Given the description of an element on the screen output the (x, y) to click on. 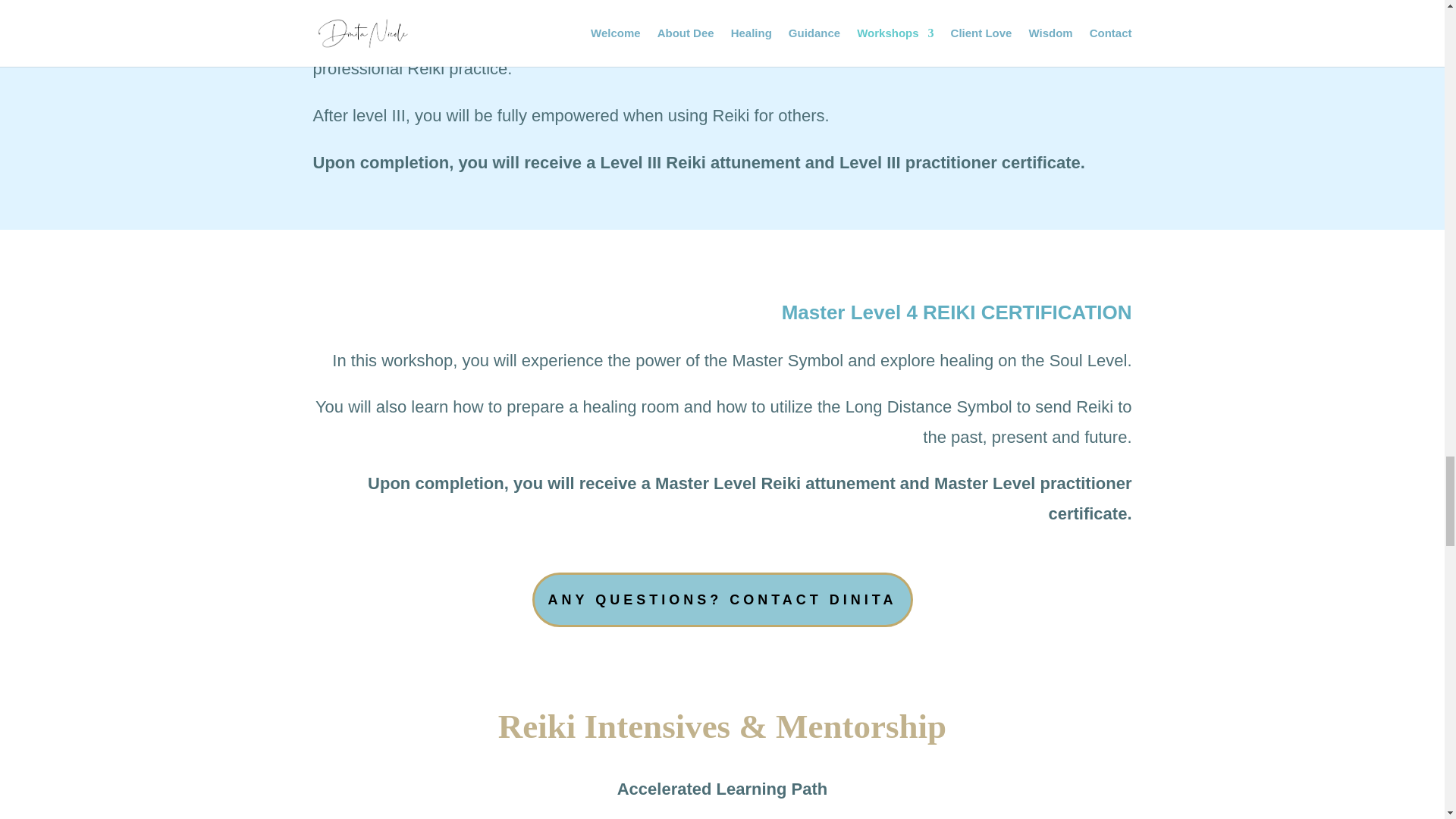
ANY QUESTIONS? CONTACT DINITA (722, 600)
